Given the description of an element on the screen output the (x, y) to click on. 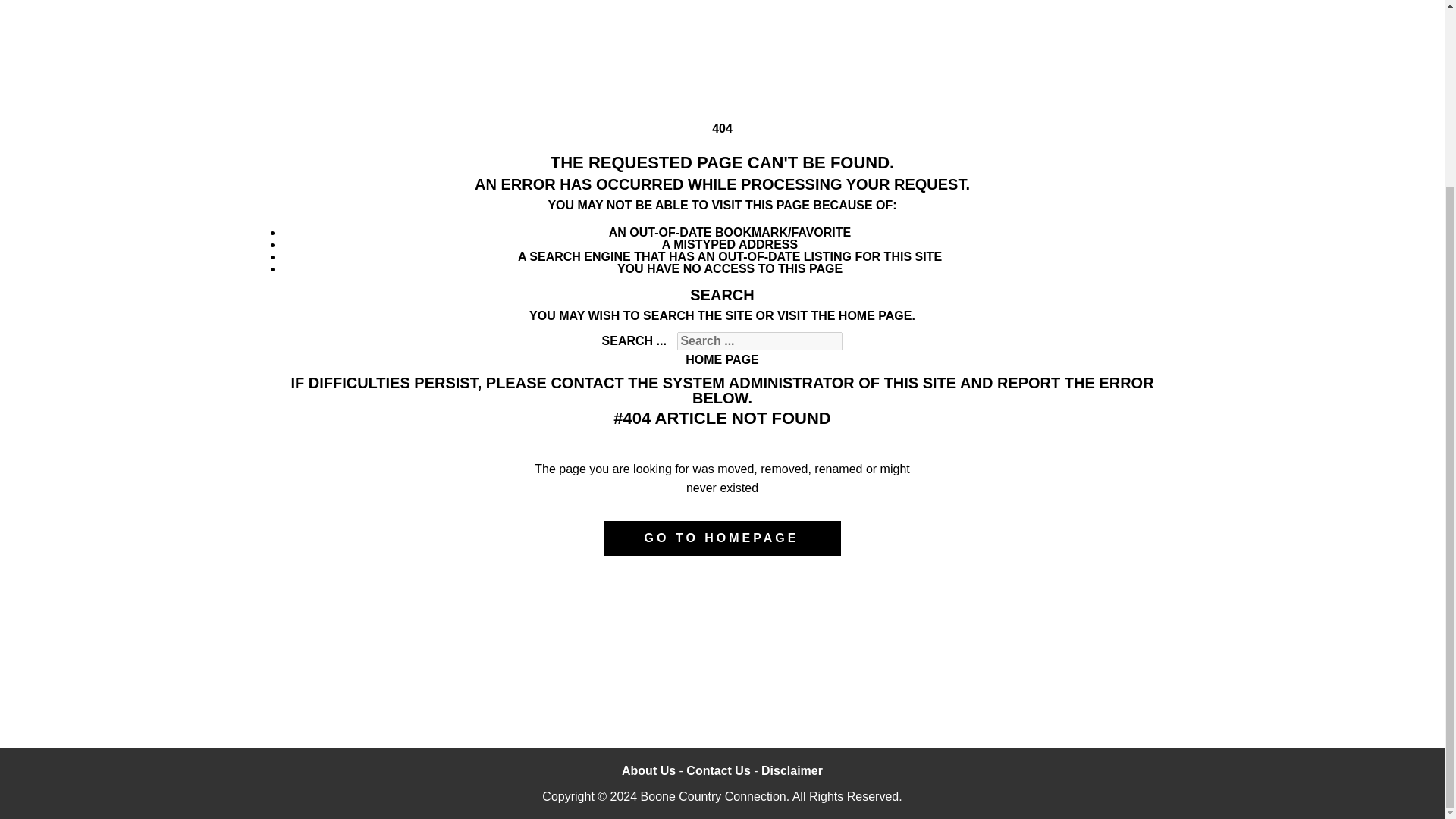
GO TO HOMEPAGE (722, 538)
HOME PAGE (721, 359)
Contact Us (719, 770)
Go to the Home Page (721, 359)
Disclaimer (791, 770)
About Us (648, 770)
